Given the description of an element on the screen output the (x, y) to click on. 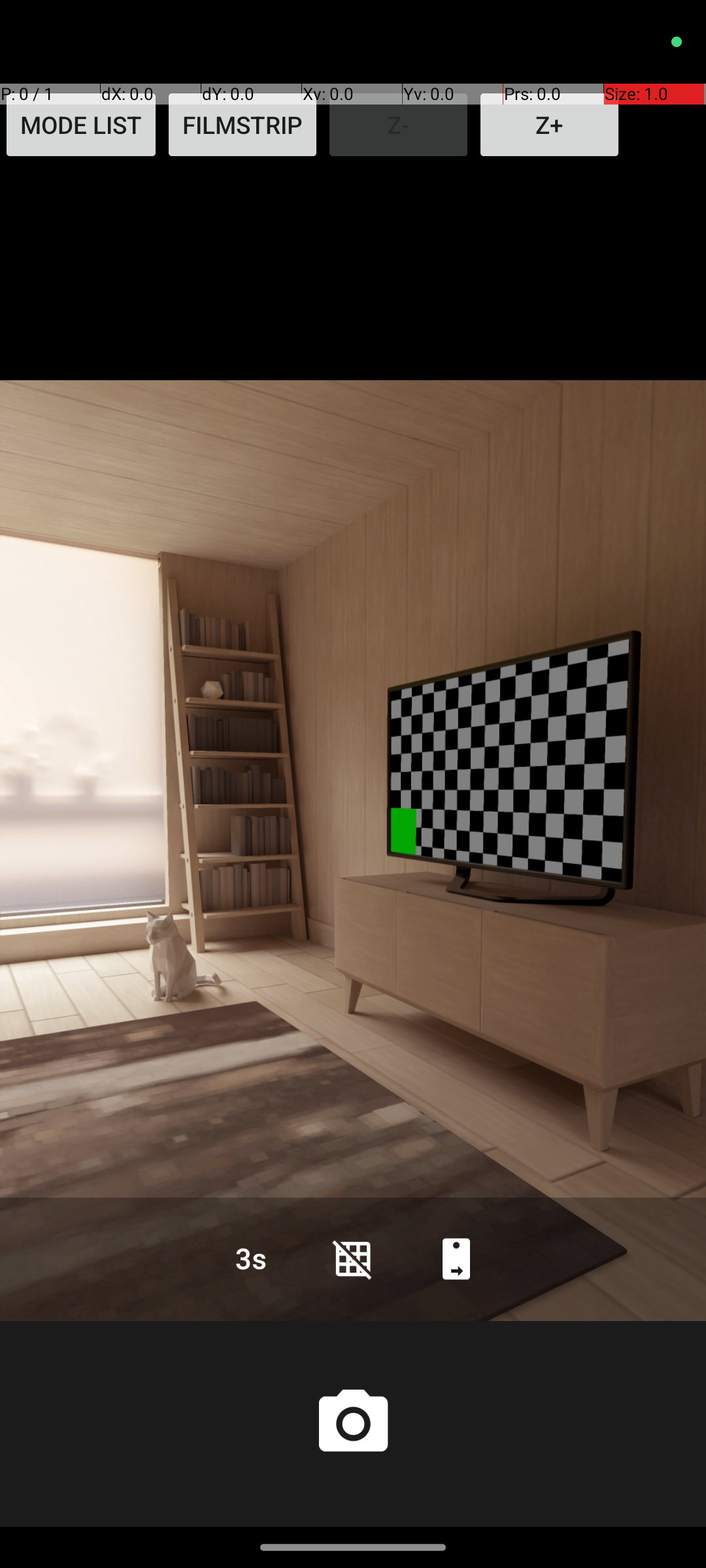
Countdown timer duration is set to 3 seconds Element type: android.widget.ImageButton (249, 1258)
Grid lines off Element type: android.widget.ImageButton (352, 1258)
